Given the description of an element on the screen output the (x, y) to click on. 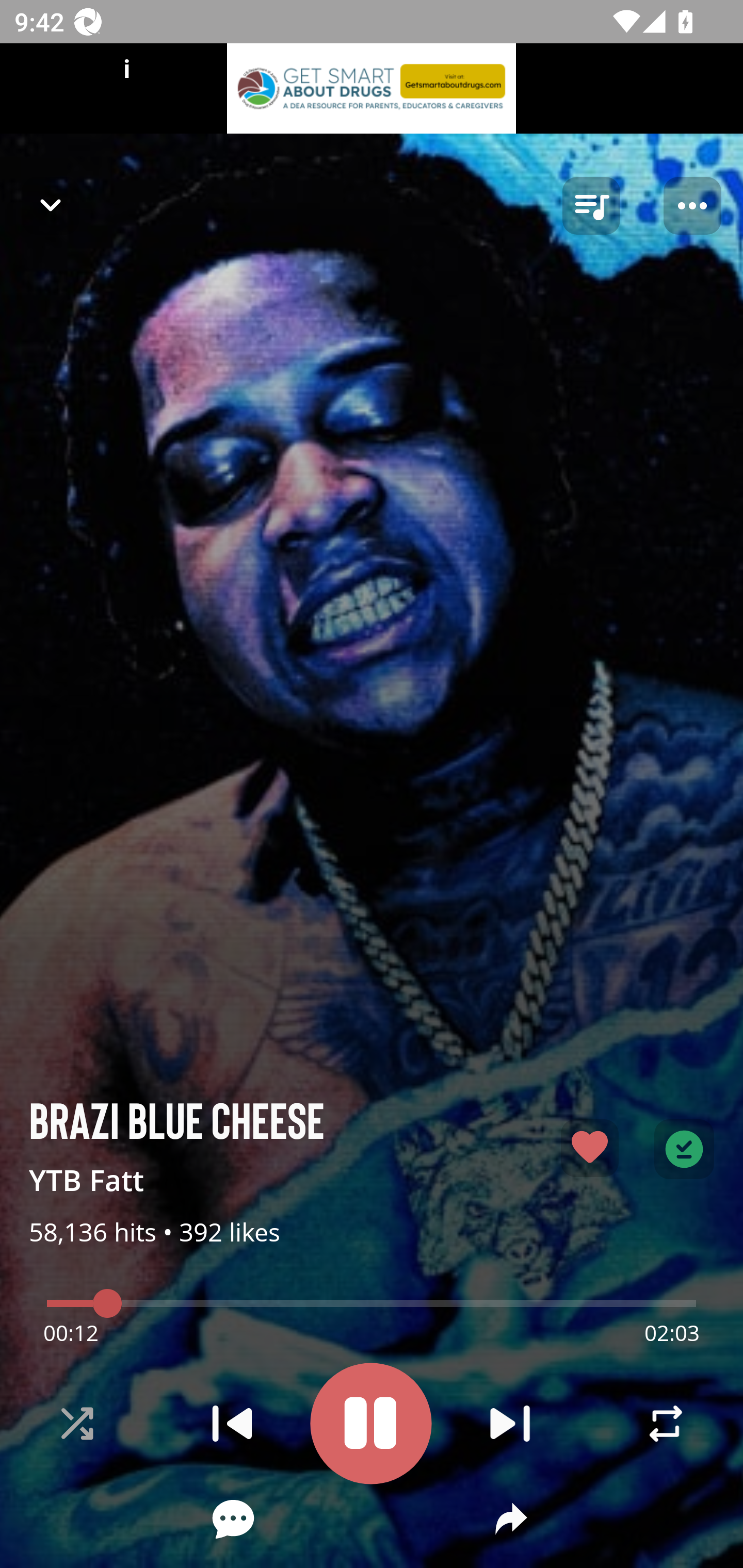
Navigate up (50, 205)
queue (590, 206)
Player options (692, 206)
